Given the description of an element on the screen output the (x, y) to click on. 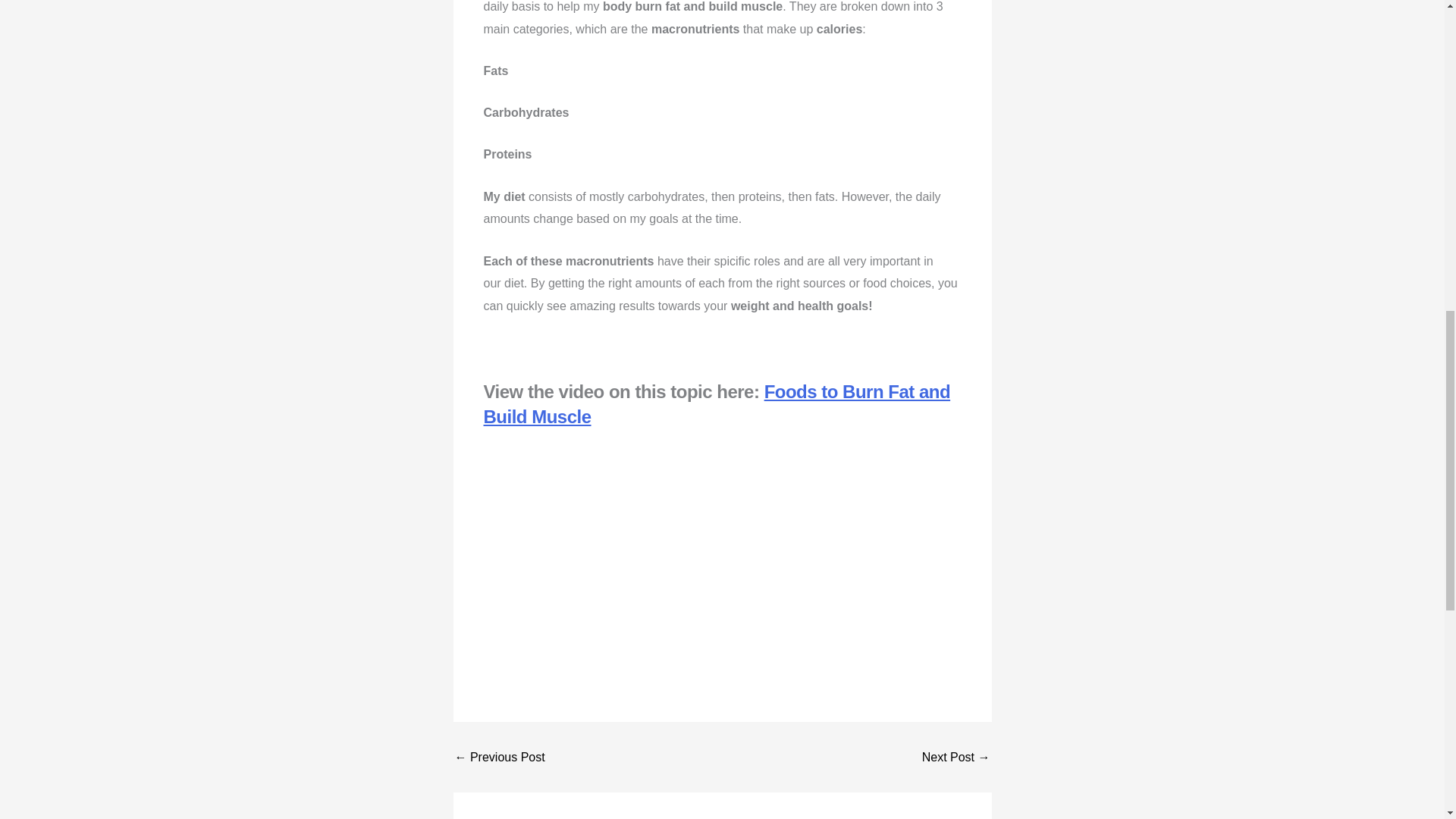
Breaking Through Plateaus (955, 757)
Foods to Burn Fat and Build Muscle (716, 404)
Massive Chest and Shoulders Sesh (499, 757)
